Given the description of an element on the screen output the (x, y) to click on. 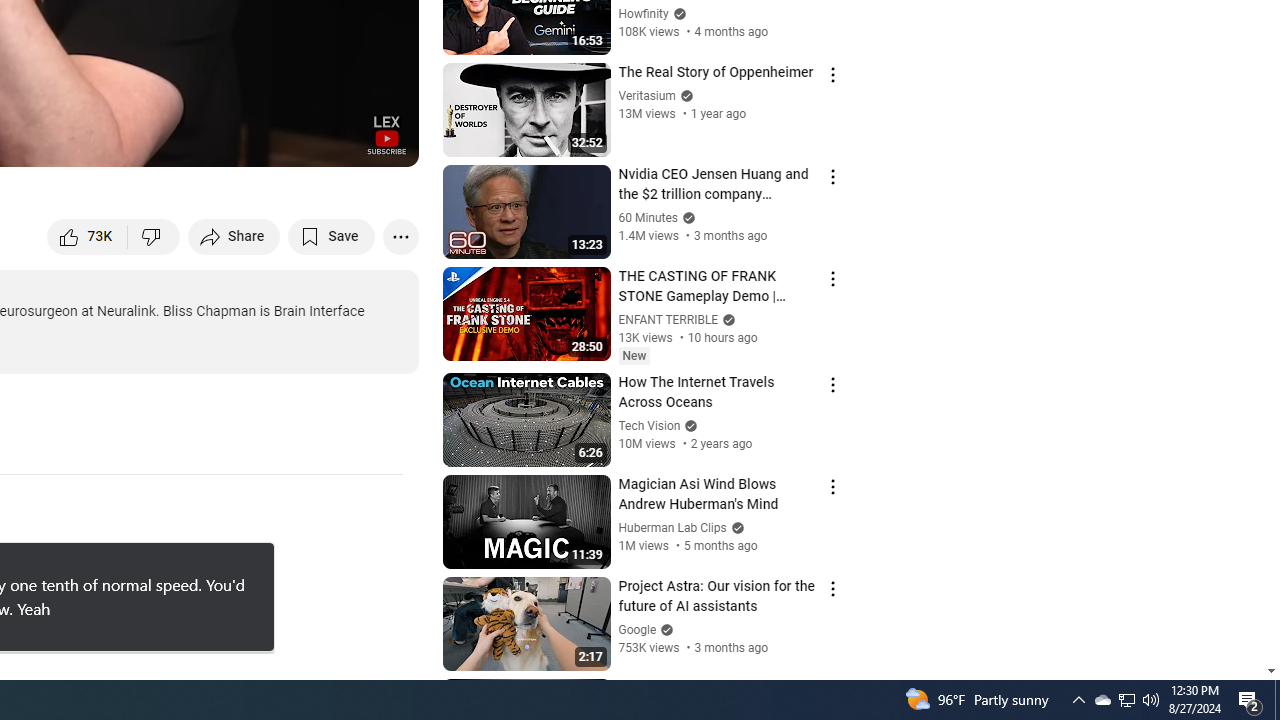
New (634, 356)
Save to playlist (331, 236)
like this video along with 73,133 other people (88, 236)
Channel watermark (386, 134)
Miniplayer (i) (286, 142)
Subtitles/closed captions unavailable (190, 142)
Autoplay is on (141, 142)
Action menu (832, 690)
Full screen (f) (382, 142)
Verified (664, 629)
More actions (399, 236)
Share (234, 236)
